Given the description of an element on the screen output the (x, y) to click on. 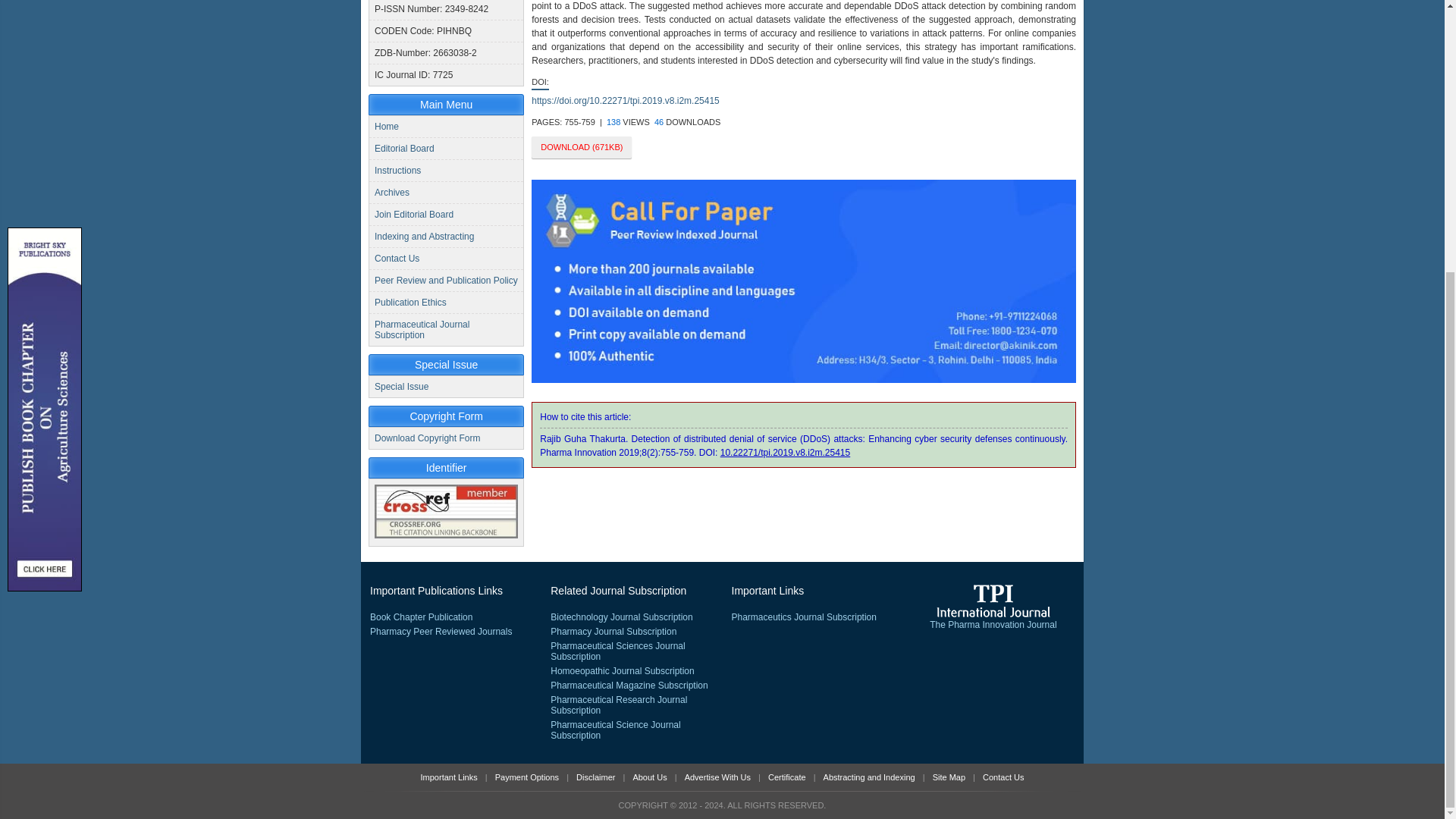
Contact Us (396, 258)
Publication Ethics (410, 302)
Special Issue (401, 386)
Instructions (397, 170)
Join Editorial Board (413, 214)
Editorial Board (403, 148)
Pharmaceutical Journal Subscription (421, 329)
Peer Review and Publication Policy (446, 280)
Home (386, 126)
Download Copyright Form (427, 438)
Indexing and Abstracting (424, 235)
Archives (391, 192)
